Given the description of an element on the screen output the (x, y) to click on. 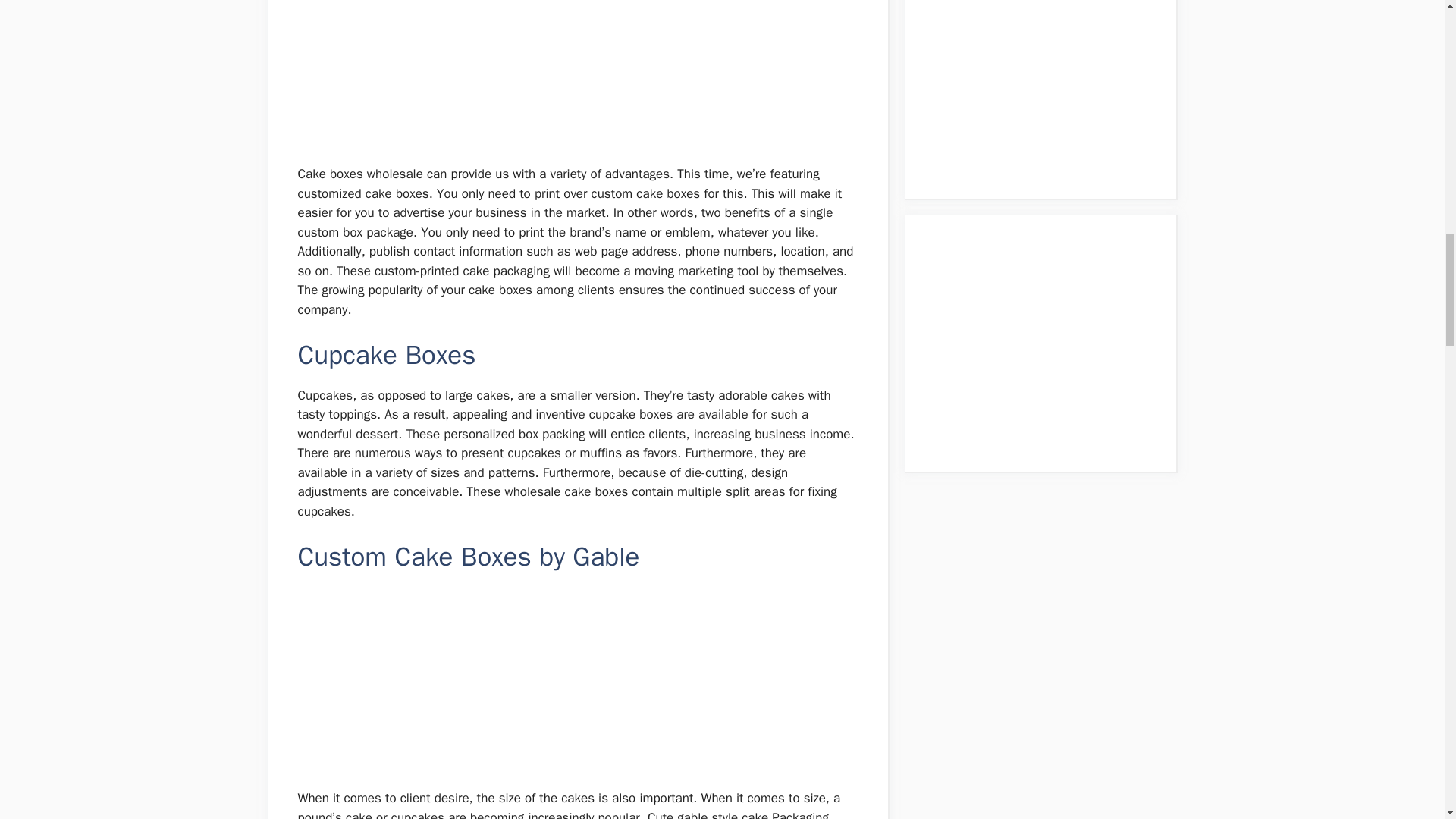
Advertisement (1047, 81)
Advertisement (577, 682)
Advertisement (1047, 339)
Advertisement (577, 76)
